Given the description of an element on the screen output the (x, y) to click on. 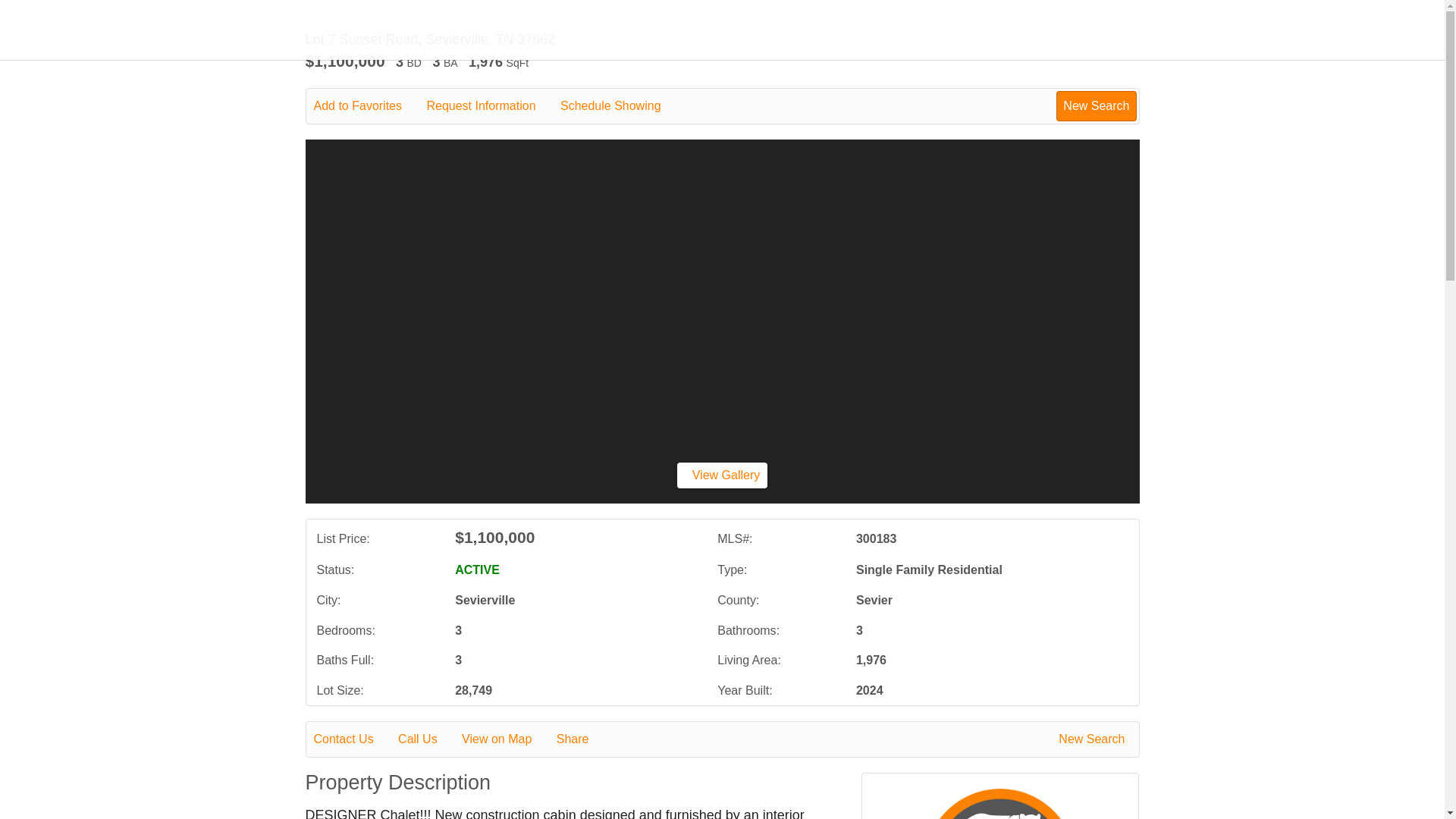
Contact Us (354, 739)
New Search (1094, 739)
View Gallery (722, 475)
Schedule Showing (621, 106)
Add to Favorites (368, 106)
View Gallery (722, 474)
New Search (1096, 105)
Request Information (491, 106)
View on Map (507, 739)
Share (583, 739)
